Given the description of an element on the screen output the (x, y) to click on. 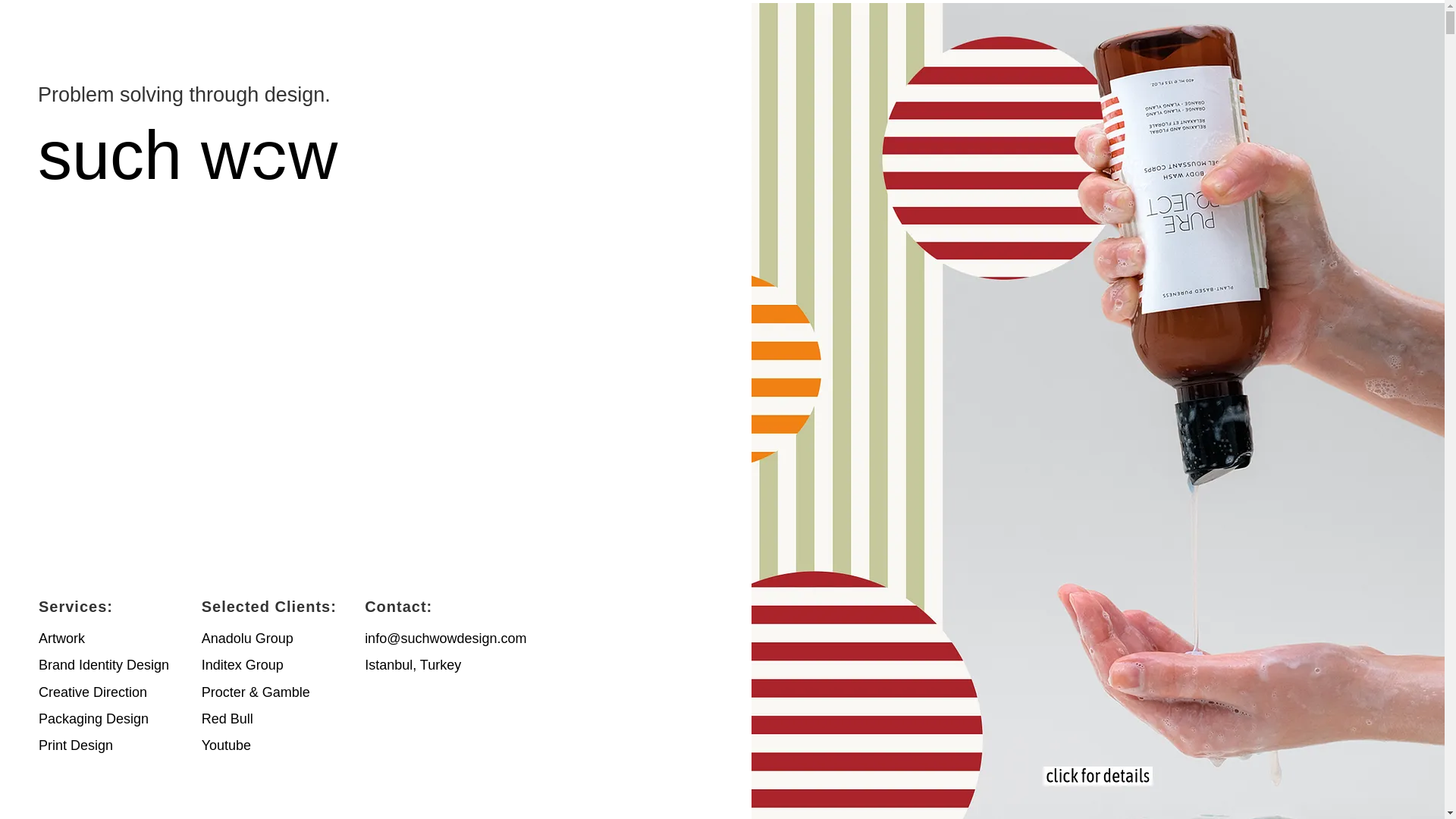
Packaging Design (93, 718)
Print Design (76, 744)
Creative Direction (93, 692)
Artwork (61, 638)
Print Design (76, 744)
Creative Direction (93, 692)
Brand Identity Design (103, 664)
Artwork (61, 638)
Brand Idedntity Design (103, 664)
Packaging Design (93, 718)
